Given the description of an element on the screen output the (x, y) to click on. 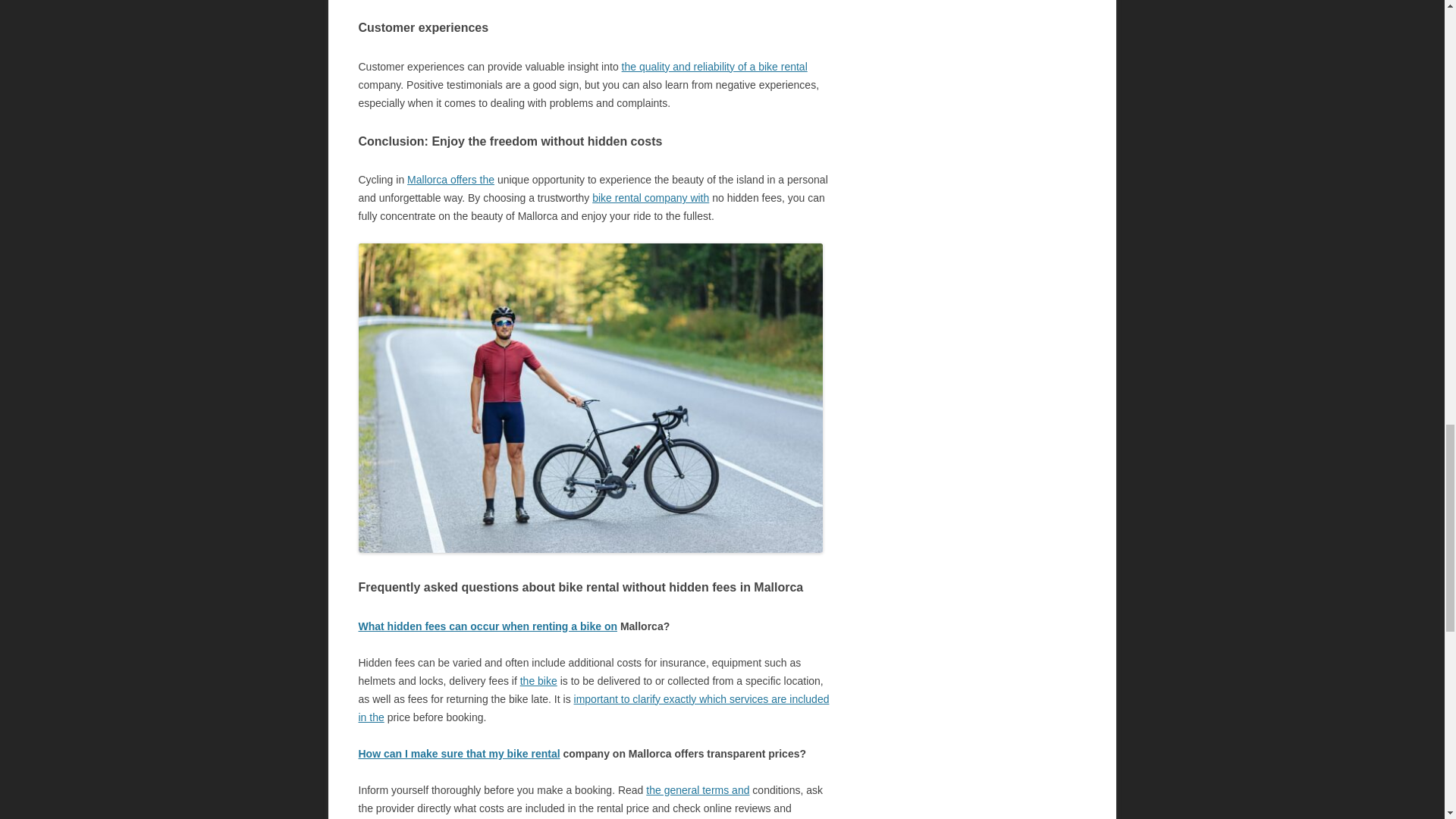
How can I make sure that my bike rental (458, 753)
What hidden fees can occur when renting a bike on (487, 625)
the bike (538, 680)
bike rental company with (650, 197)
the general terms and (697, 789)
Mallorca offers the (451, 179)
the quality and reliability of a bike rental (714, 66)
